Given the description of an element on the screen output the (x, y) to click on. 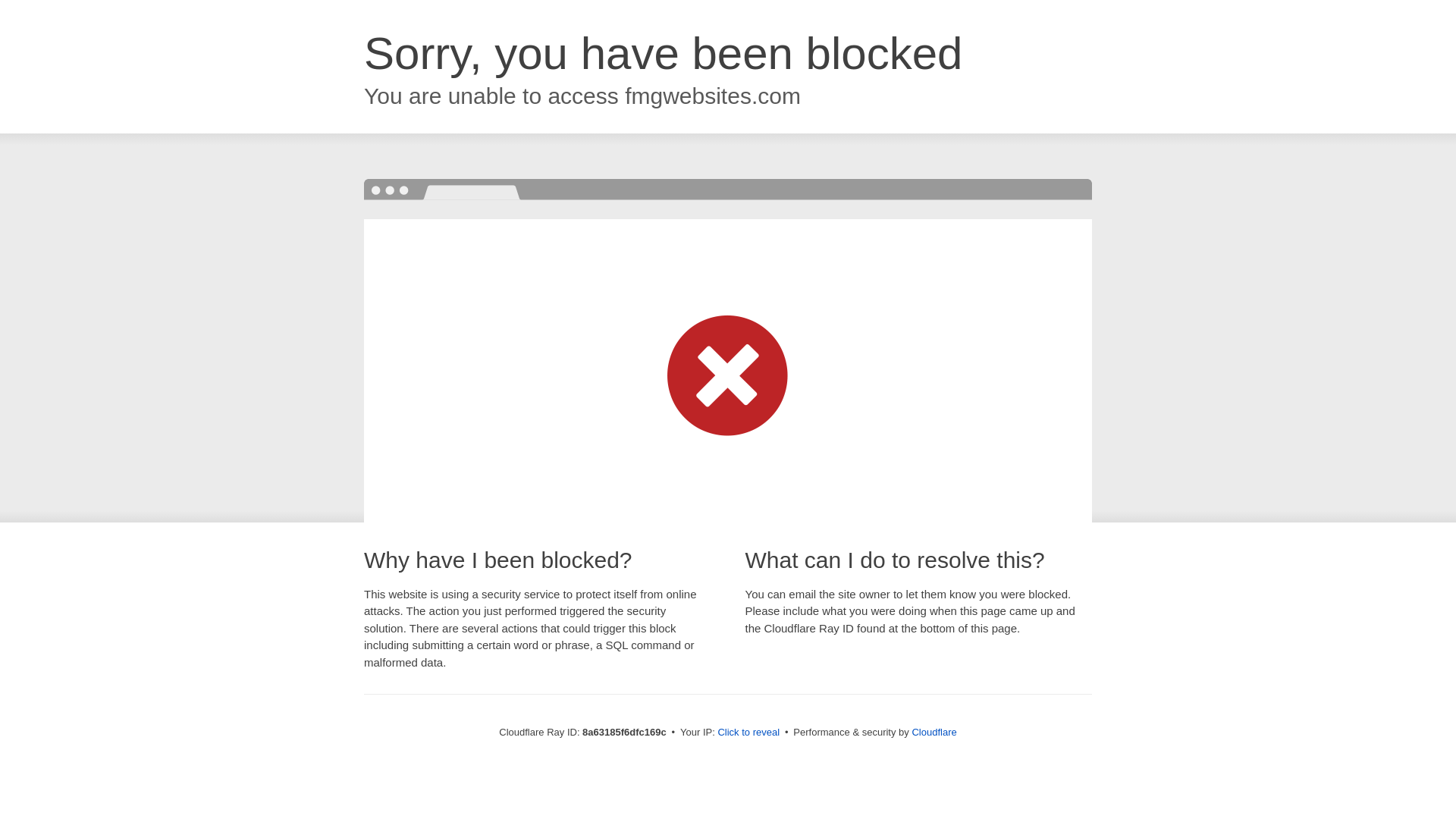
Cloudflare (933, 731)
Click to reveal (747, 732)
